Given the description of an element on the screen output the (x, y) to click on. 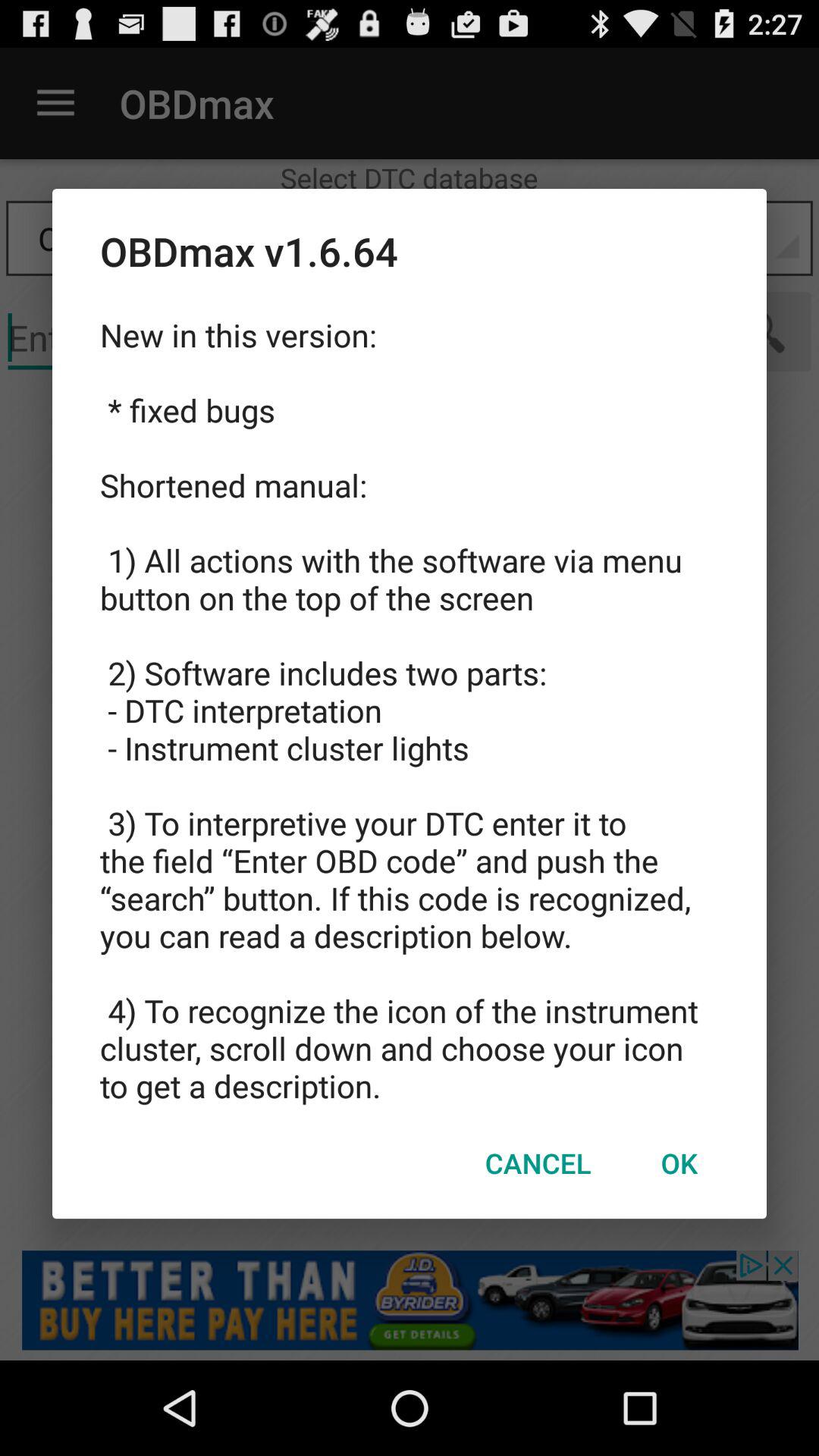
click icon at the bottom (538, 1162)
